Given the description of an element on the screen output the (x, y) to click on. 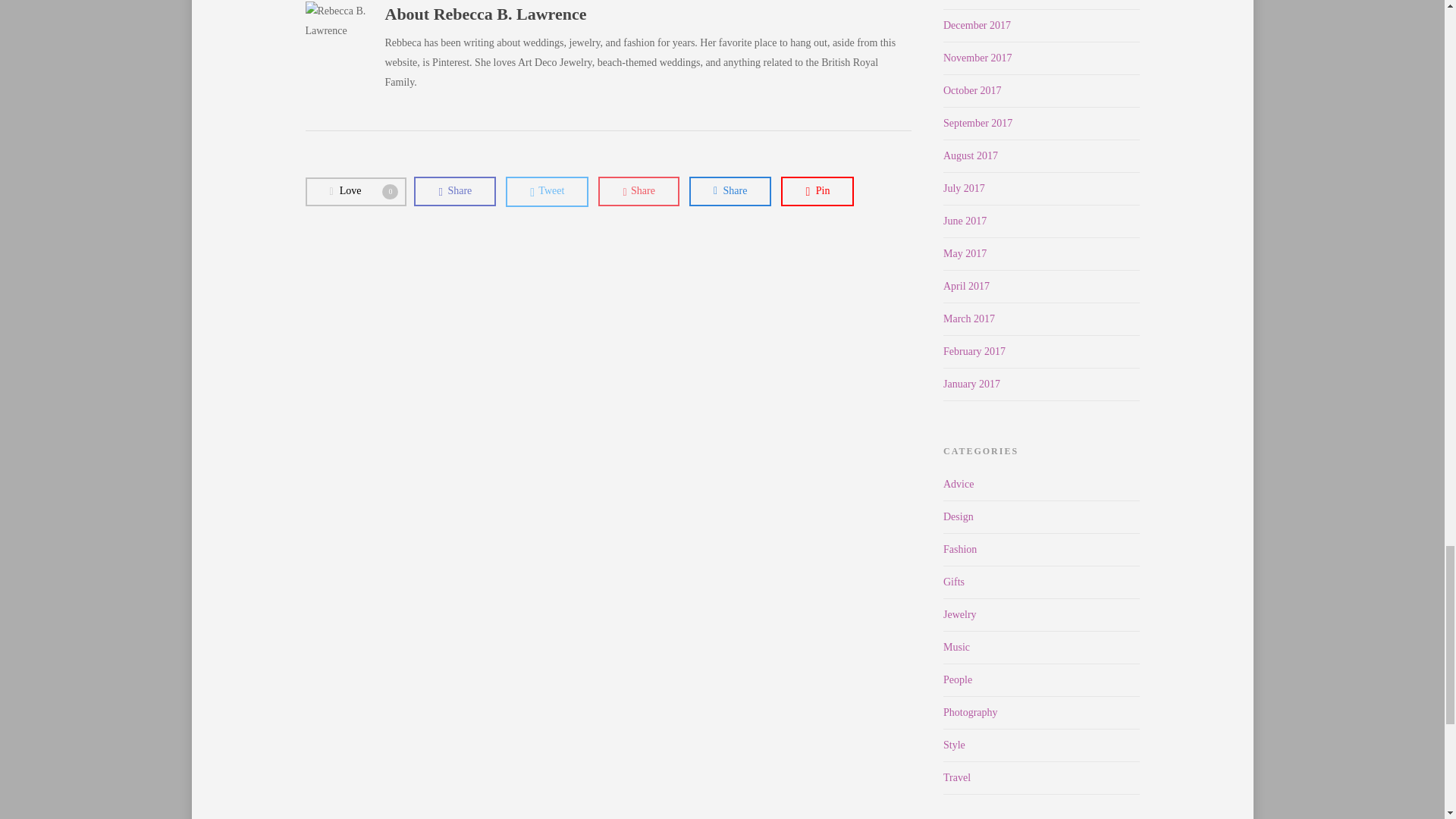
Share this (638, 190)
Tweet this (546, 191)
Share (454, 190)
Love this (355, 191)
Tweet (546, 191)
Share (355, 191)
Pin (729, 190)
Share (816, 190)
Share this (638, 190)
Share this (729, 190)
Pin this (454, 190)
